Given the description of an element on the screen output the (x, y) to click on. 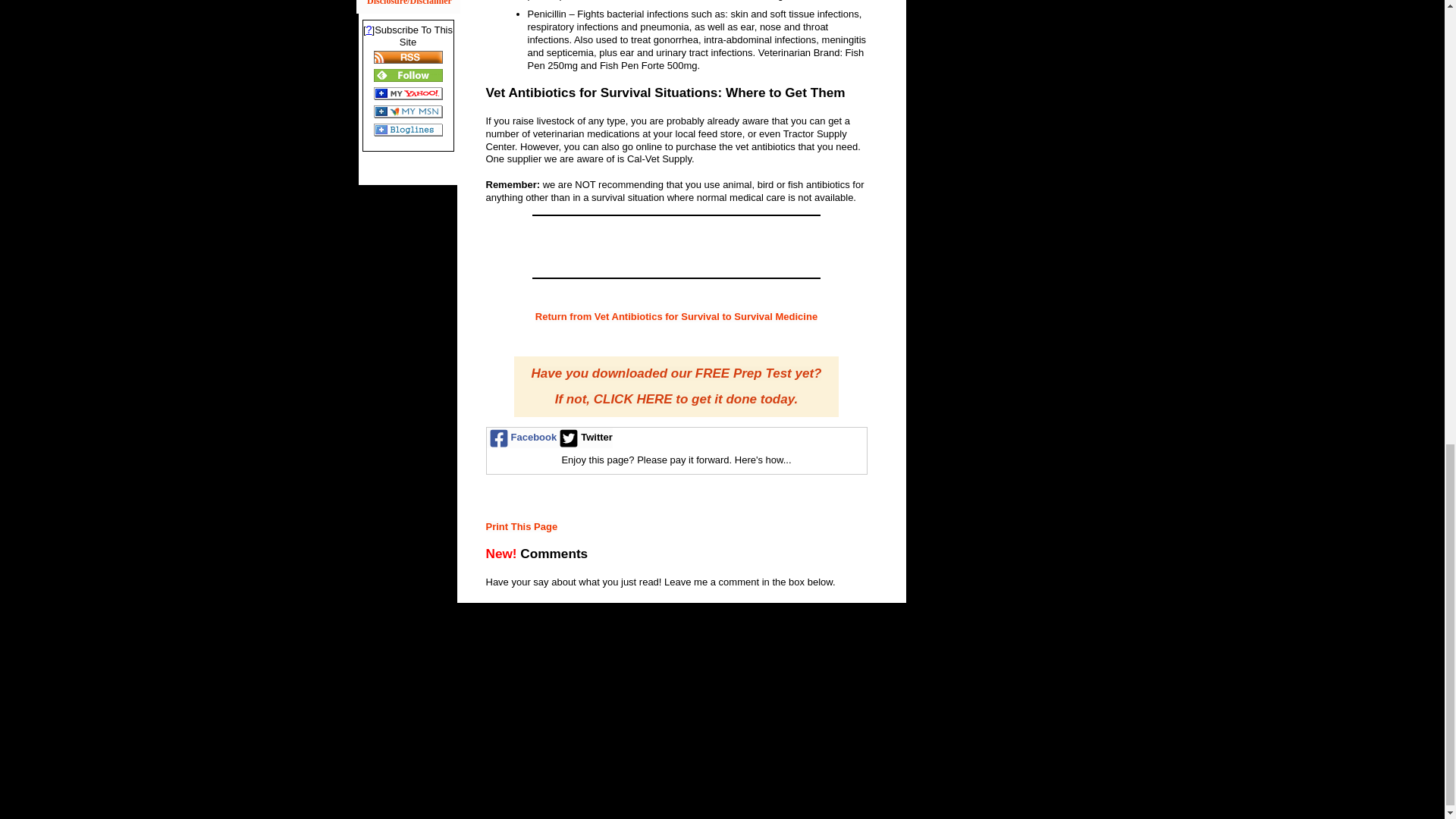
Facebook (521, 437)
Have you downloaded our FREE Prep Test yet? (676, 374)
If not, CLICK HERE to get it done today. (675, 399)
Print This Page (520, 526)
Twitter (584, 437)
